Given the description of an element on the screen output the (x, y) to click on. 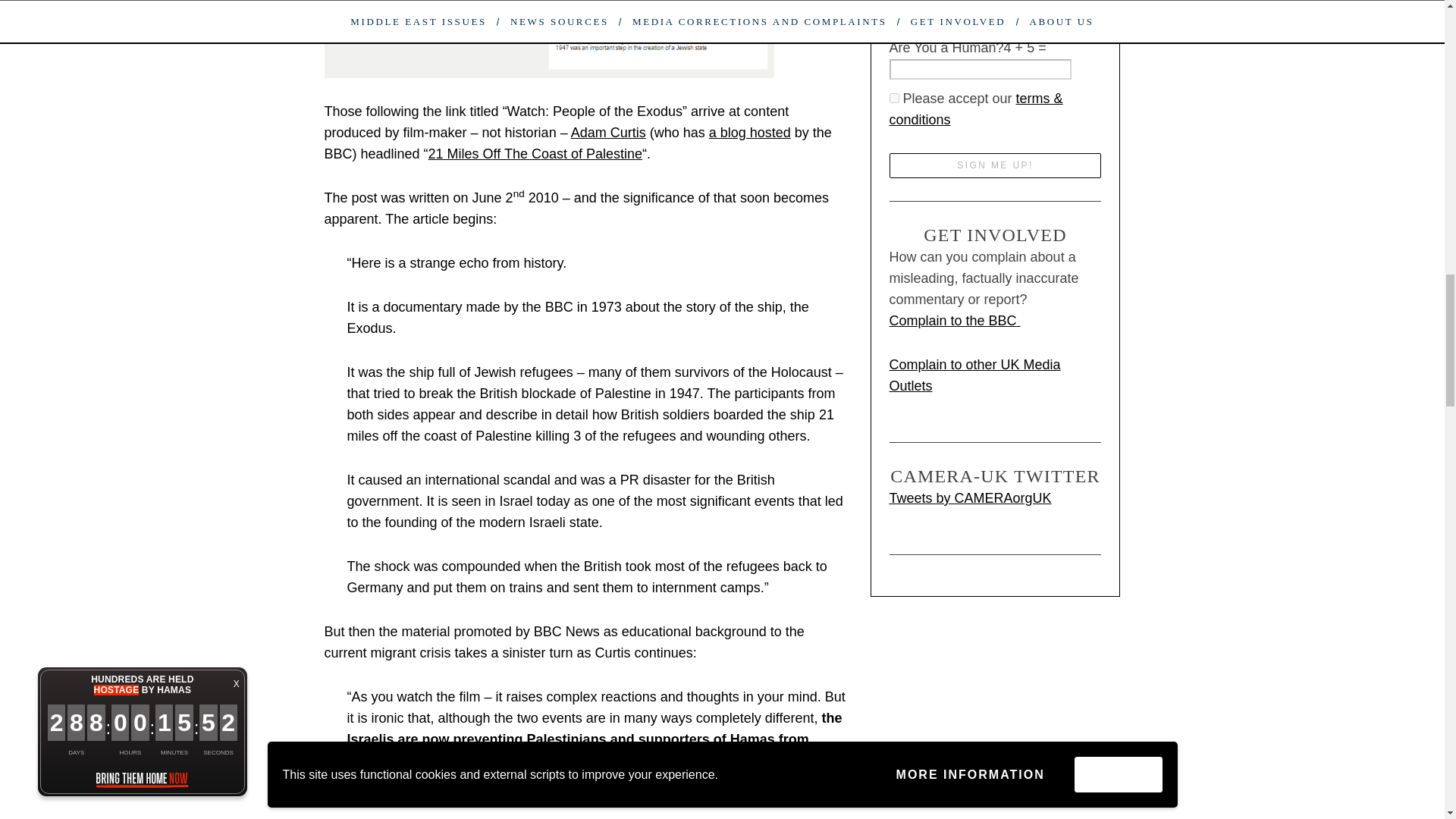
Adam Curtis (608, 132)
true (893, 98)
Sign me up! (994, 165)
